Given the description of an element on the screen output the (x, y) to click on. 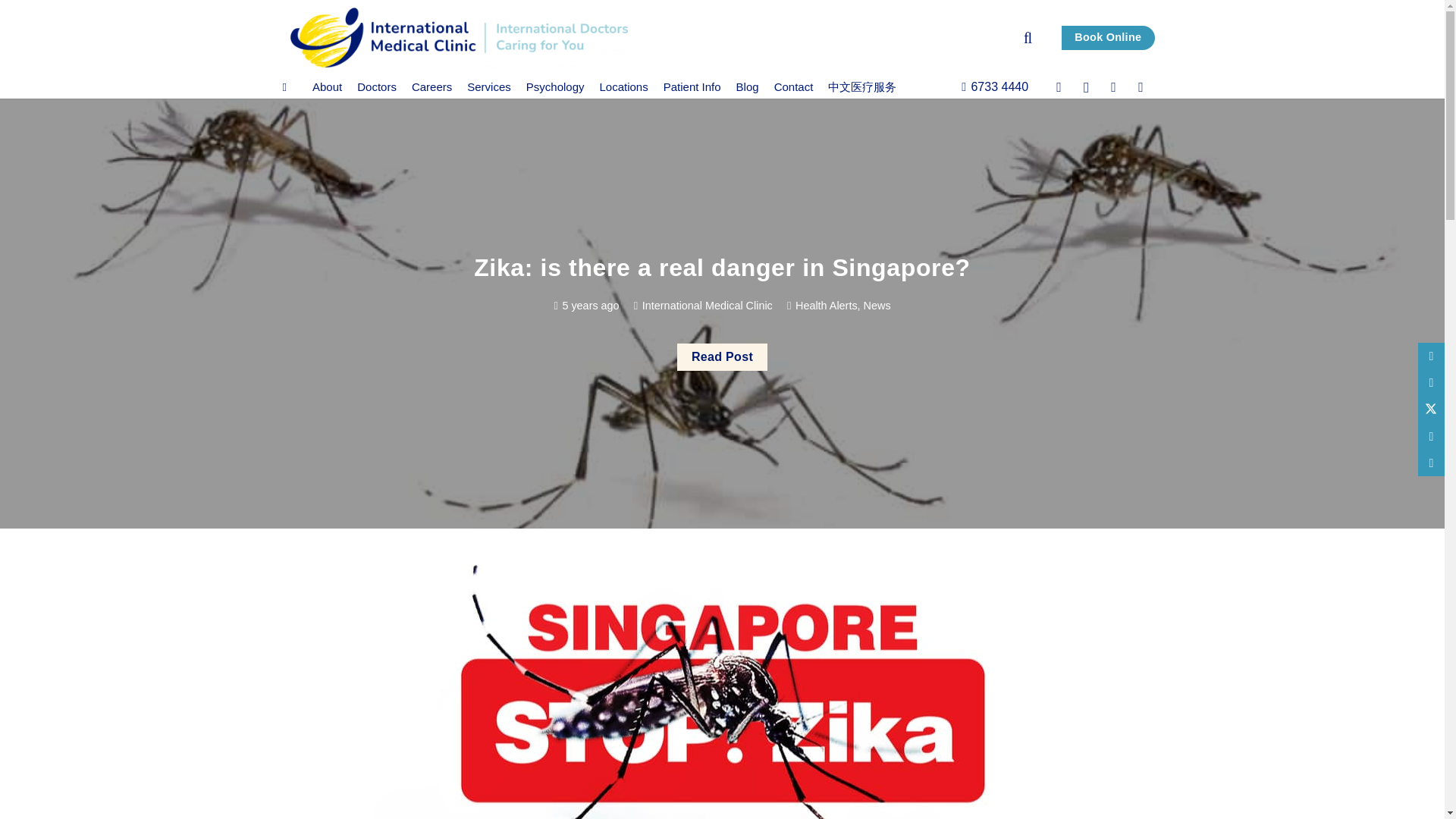
Email this (1431, 356)
YouTube (1140, 86)
Book Online (1107, 37)
Services (489, 87)
Share this (1431, 382)
Tweet this (1431, 408)
Locations (623, 87)
Share this (1431, 436)
Patient Info (692, 87)
Psychology (555, 87)
